Given the description of an element on the screen output the (x, y) to click on. 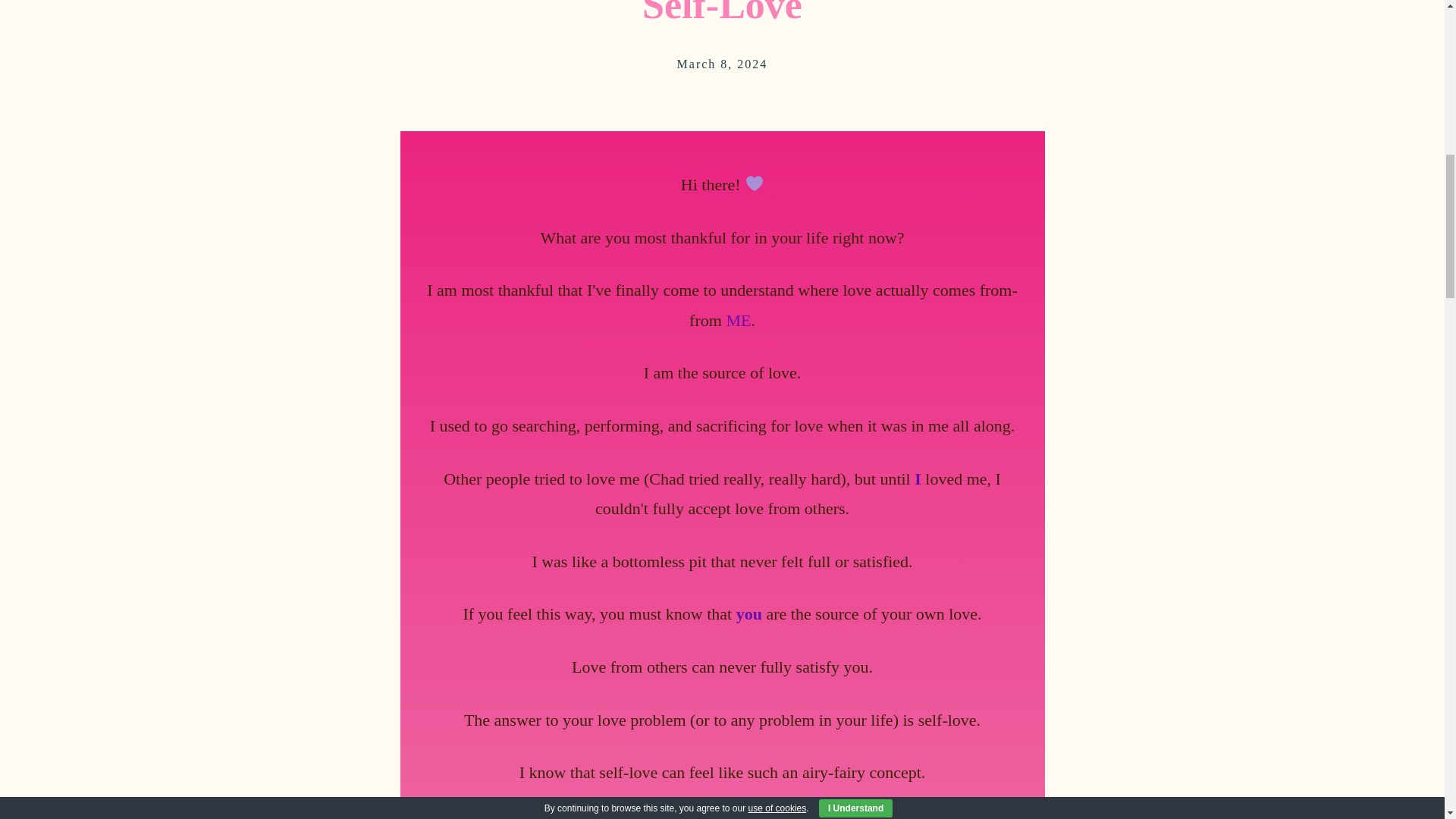
Self-Love (722, 13)
Self-Love (722, 13)
